Given the description of an element on the screen output the (x, y) to click on. 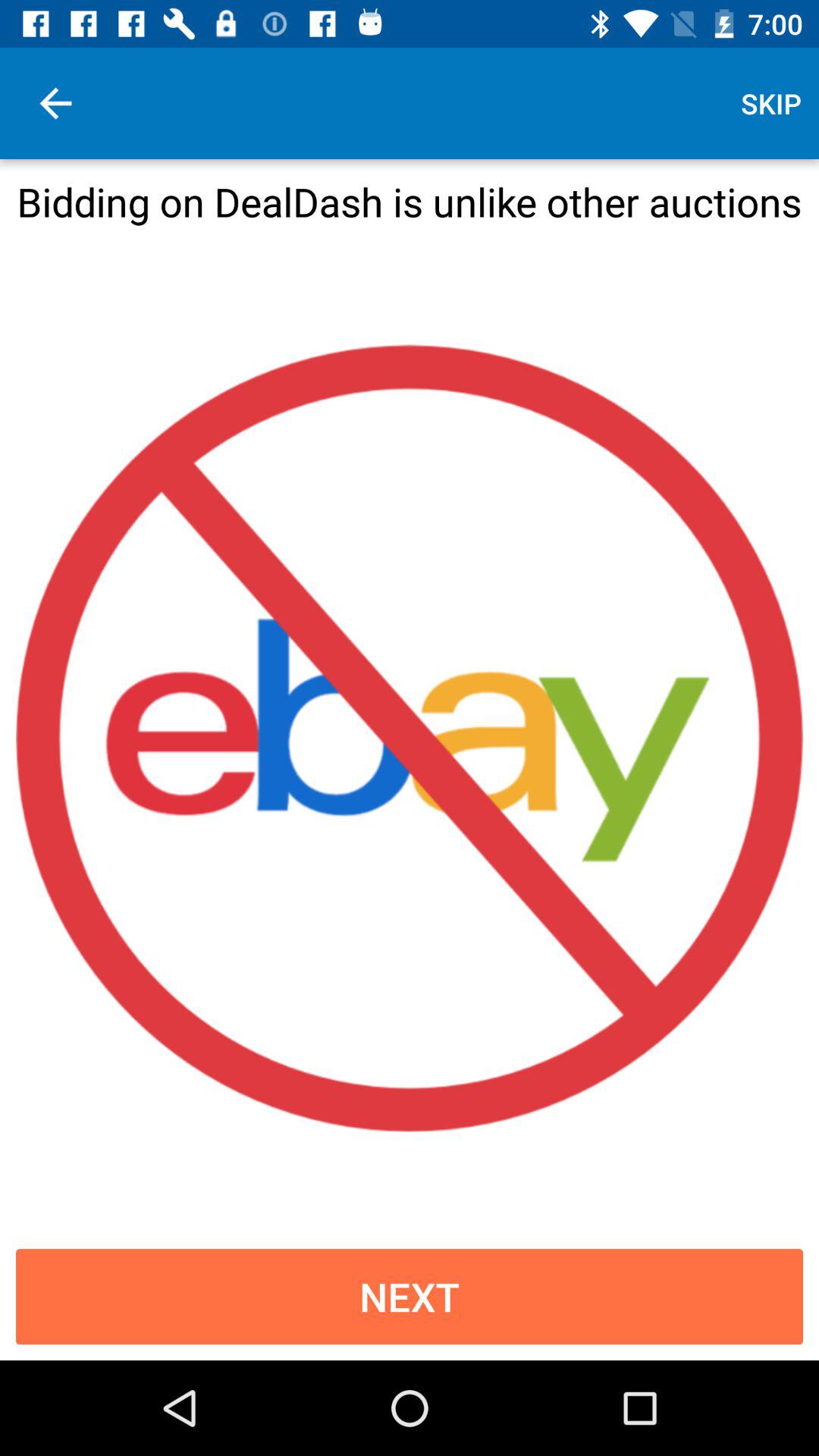
select the skip at the top right corner (771, 103)
